Given the description of an element on the screen output the (x, y) to click on. 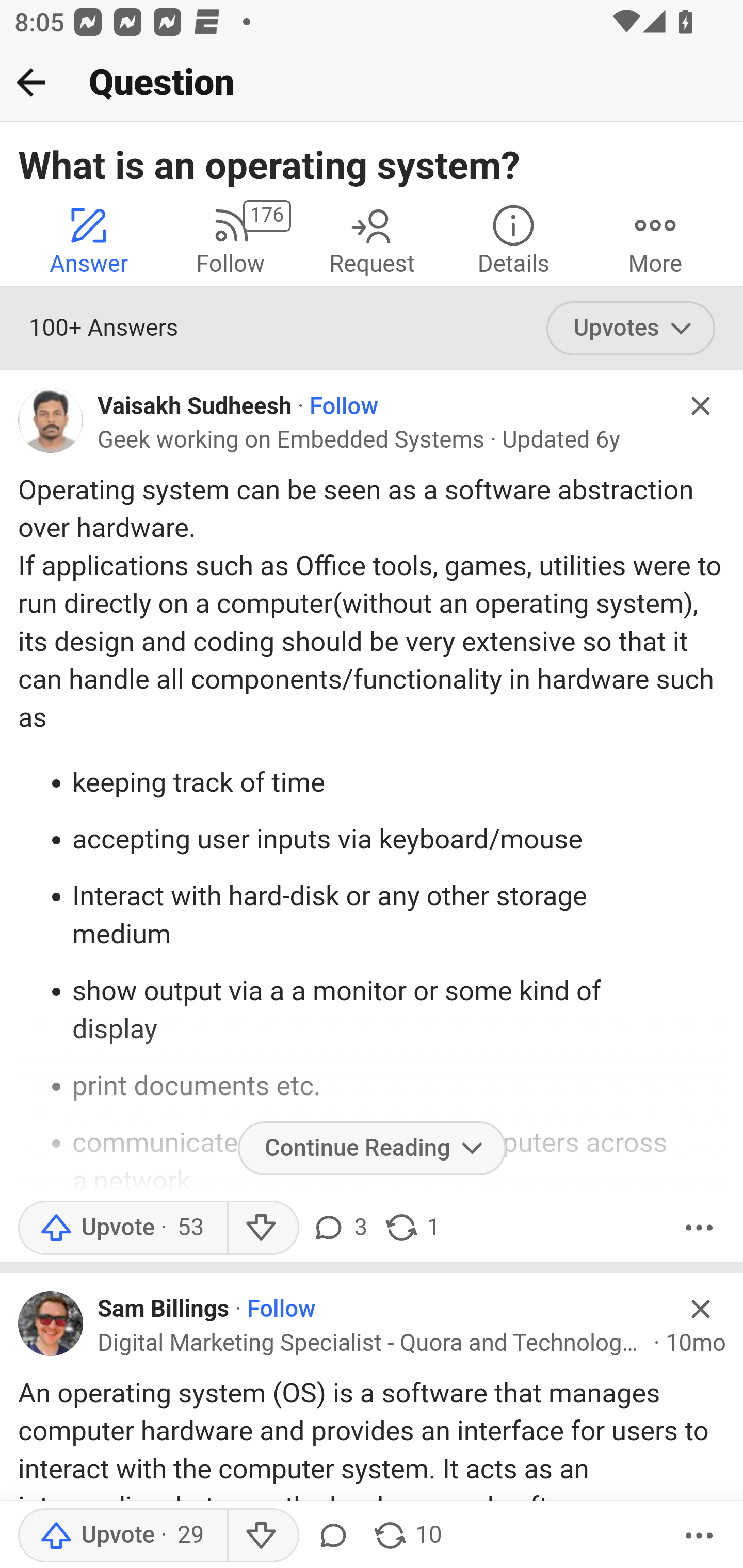
Back Question (371, 82)
Back (30, 82)
Answer (88, 239)
176 Follow (230, 239)
Request (371, 239)
Details (513, 239)
More (655, 239)
Upvotes (630, 327)
Hide (700, 405)
Profile photo for Vaisakh Sudheesh (50, 420)
Vaisakh Sudheesh (194, 406)
Follow (343, 406)
Updated 6y Updated  6 y (561, 439)
Continue Reading (371, 1147)
Upvote (122, 1227)
Downvote (262, 1227)
3 comments (338, 1227)
1 share (411, 1227)
More (699, 1227)
Hide (700, 1308)
Profile photo for Sam Billings (50, 1322)
Sam Billings (164, 1310)
Follow (280, 1310)
10mo 10 mo (695, 1342)
Upvote (122, 1535)
Downvote (262, 1535)
Comment (332, 1535)
10 shares (407, 1535)
More (699, 1535)
